Given the description of an element on the screen output the (x, y) to click on. 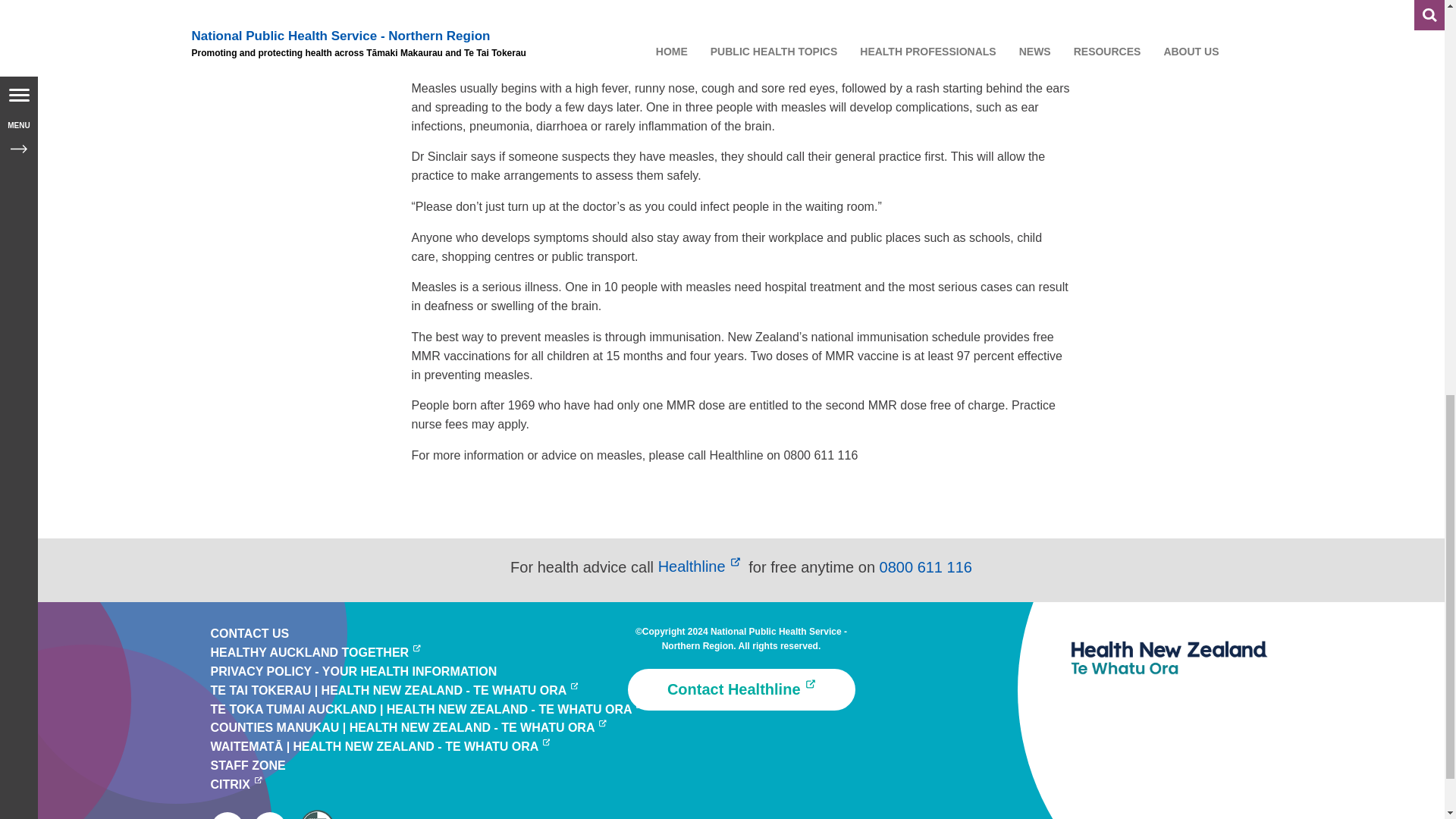
Healthline (701, 565)
